Given the description of an element on the screen output the (x, y) to click on. 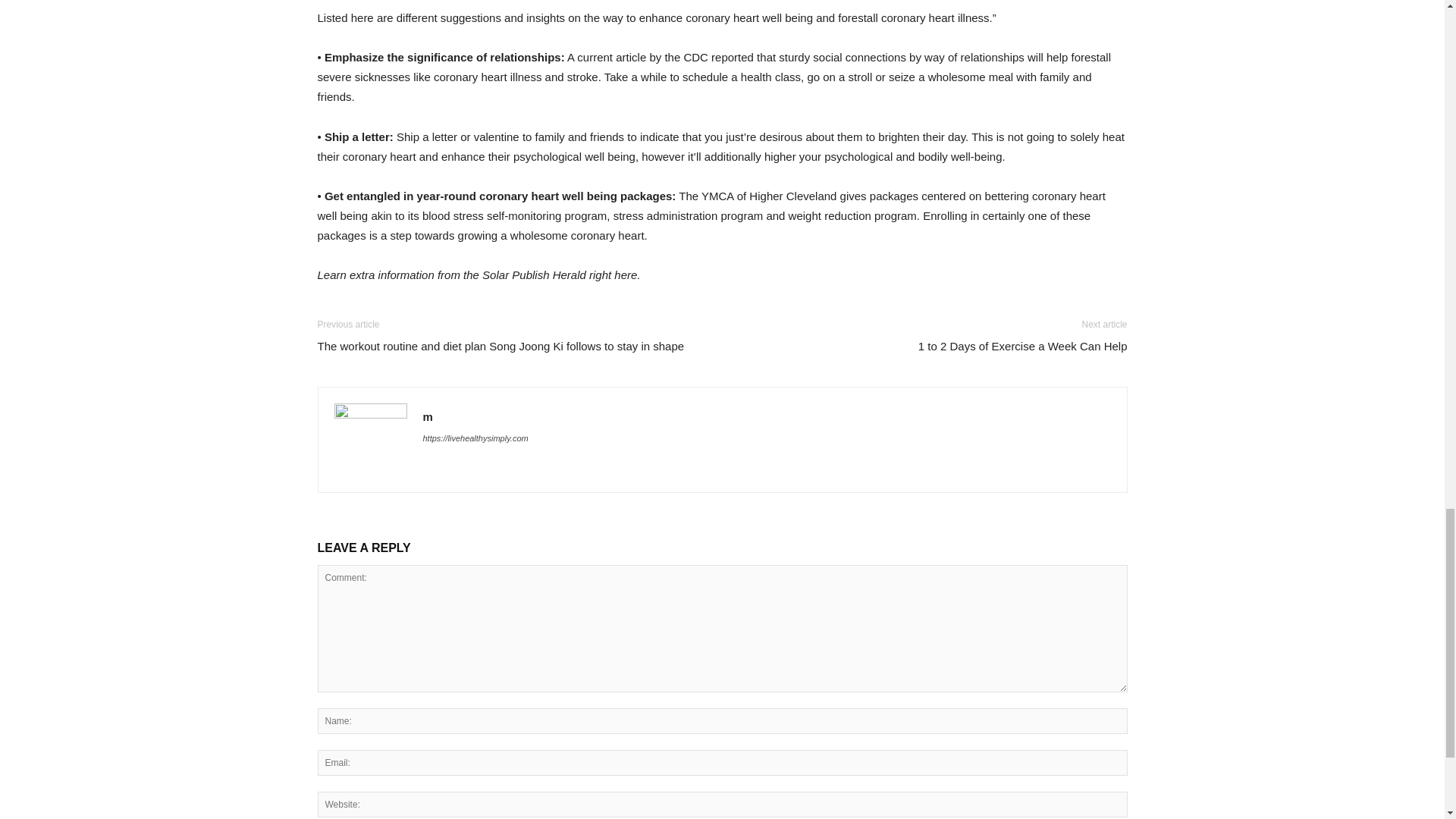
1 to 2 Days of Exercise a Week Can Help (1022, 345)
